Given the description of an element on the screen output the (x, y) to click on. 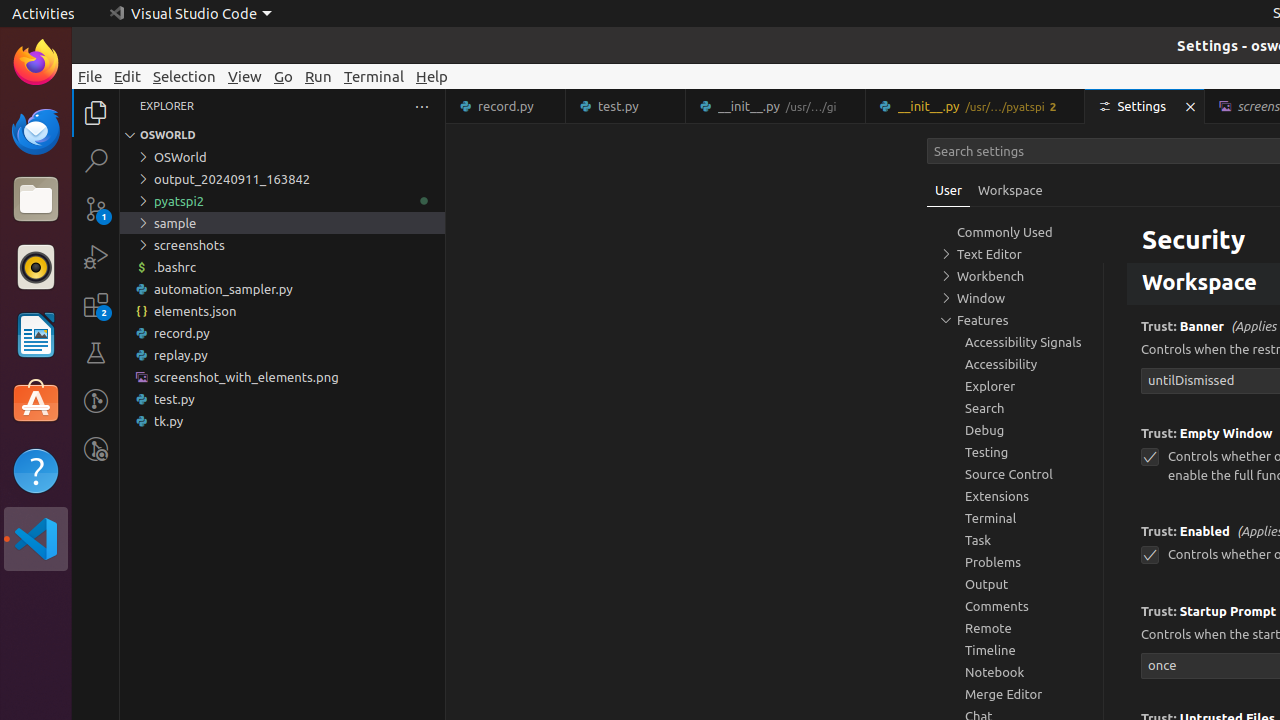
Workspace Element type: check-box (1010, 190)
View Element type: push-button (245, 76)
test.py Element type: page-tab (626, 106)
security.promptForRemoteFileProtocolHandling Element type: check-box (1150, 228)
